Given the description of an element on the screen output the (x, y) to click on. 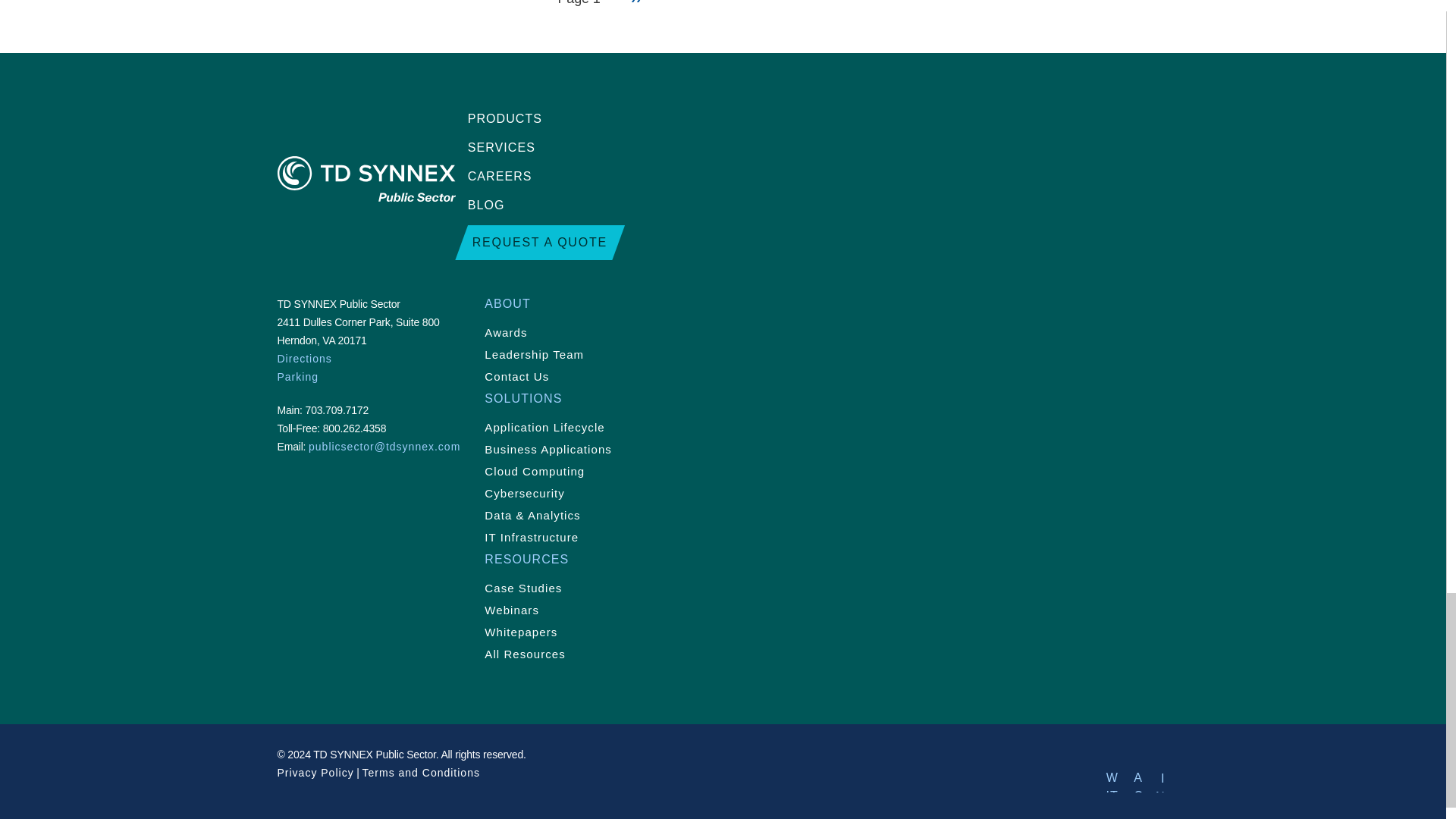
Go to next page (636, 2)
Search our latest career opportunities (812, 176)
